Given the description of an element on the screen output the (x, y) to click on. 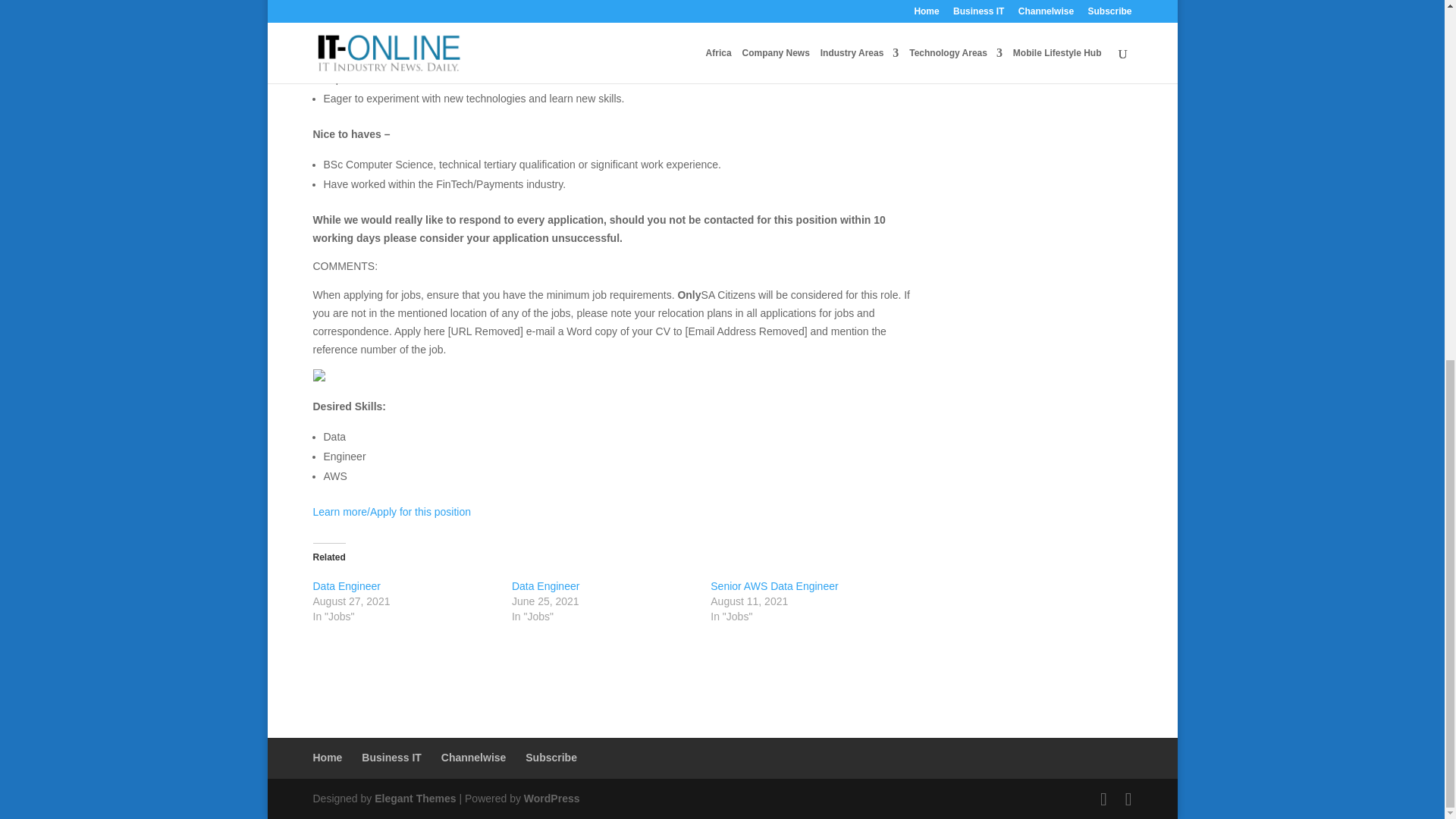
Premium WordPress Themes (414, 798)
Senior AWS Data Engineer (774, 585)
Data Engineer (346, 585)
Data Engineer (545, 585)
